Given the description of an element on the screen output the (x, y) to click on. 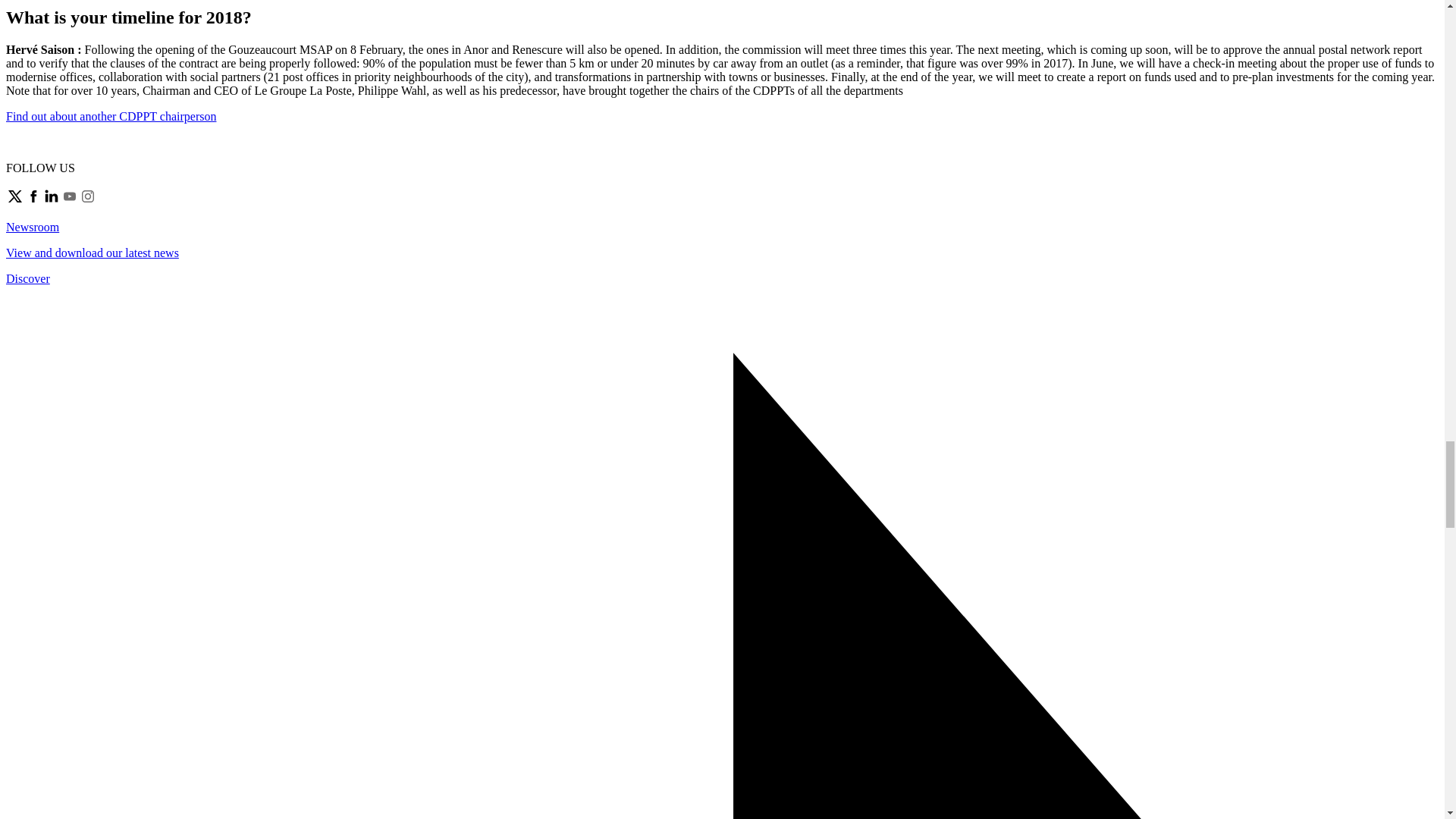
Go to the Le Groupe La Poste LinkedIn account (51, 201)
Go to the Le Groupe La Poste Instagram account (87, 201)
Go to the Le Groupe La Poste Facebook account (33, 201)
Go to the Le Groupe La Poste Youtube account (69, 201)
Go to the Le Groupe La Poste Twitter account (14, 201)
